Given the description of an element on the screen output the (x, y) to click on. 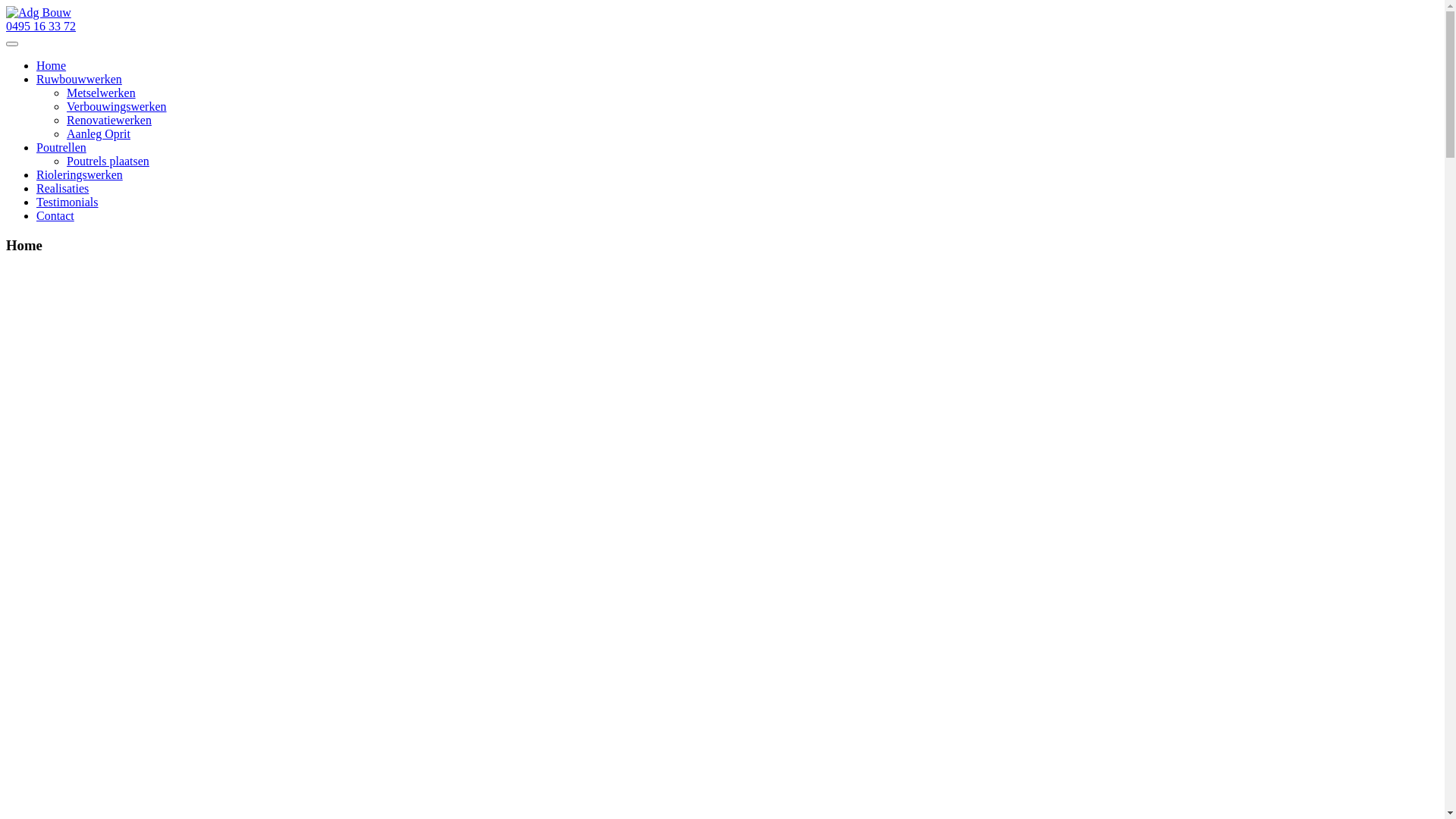
Aanleg Oprit Element type: text (98, 133)
Testimonials Element type: text (67, 201)
Verbouwingswerken Element type: text (116, 106)
Metselwerken Element type: text (100, 92)
Home Element type: text (50, 65)
Renovatiewerken Element type: text (108, 119)
Ruwbouwwerken Element type: text (79, 78)
Rioleringswerken Element type: text (79, 174)
Poutrellen Element type: text (61, 147)
Poutrels plaatsen Element type: text (107, 160)
Contact Element type: text (55, 215)
Realisaties Element type: text (62, 188)
0495 16 33 72 Element type: text (40, 25)
